Given the description of an element on the screen output the (x, y) to click on. 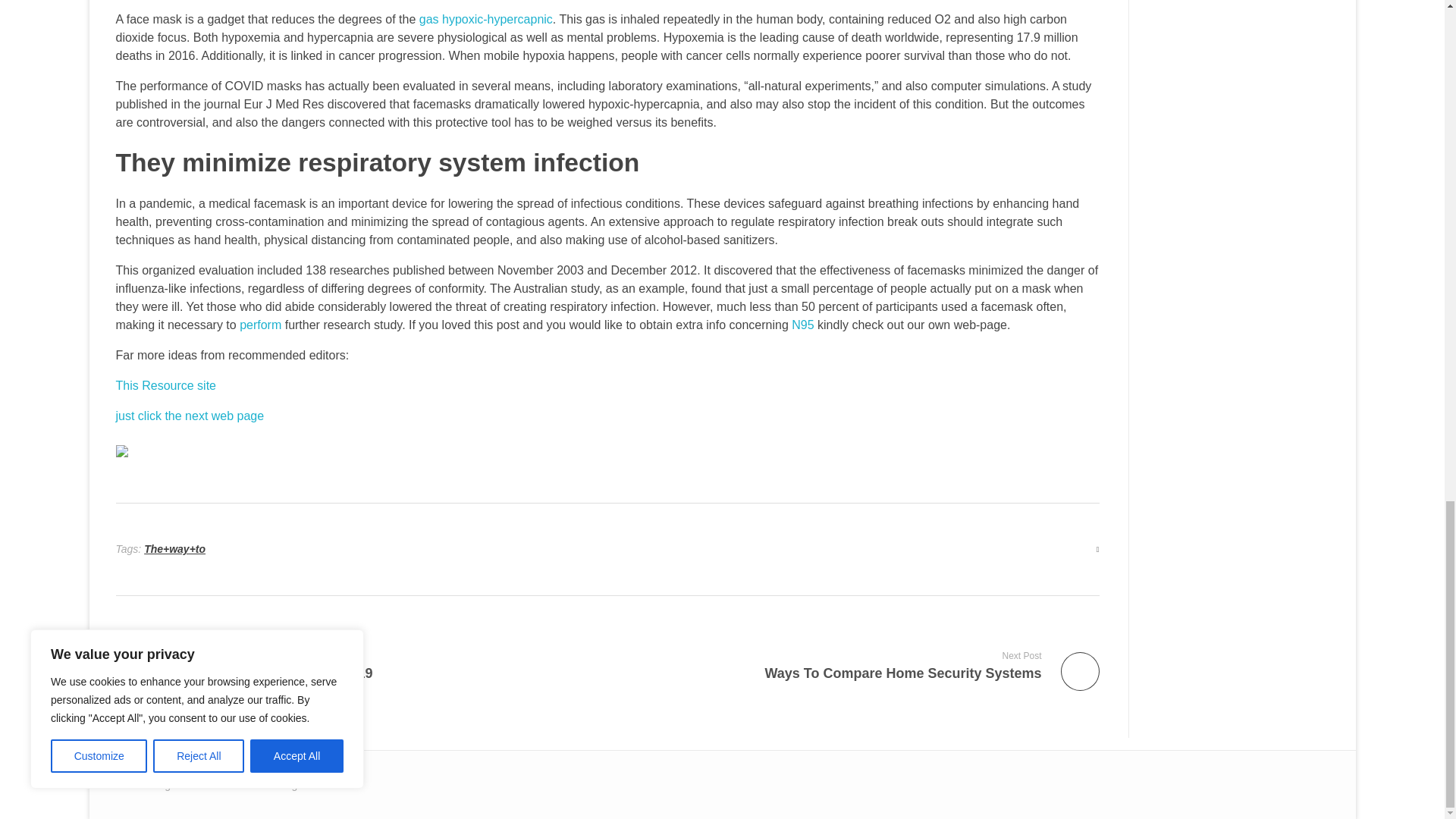
gas hypoxic-hypercapnic (355, 665)
just click the next web page (486, 19)
perform (189, 415)
N95 (260, 324)
This Resource site (802, 324)
